Given the description of an element on the screen output the (x, y) to click on. 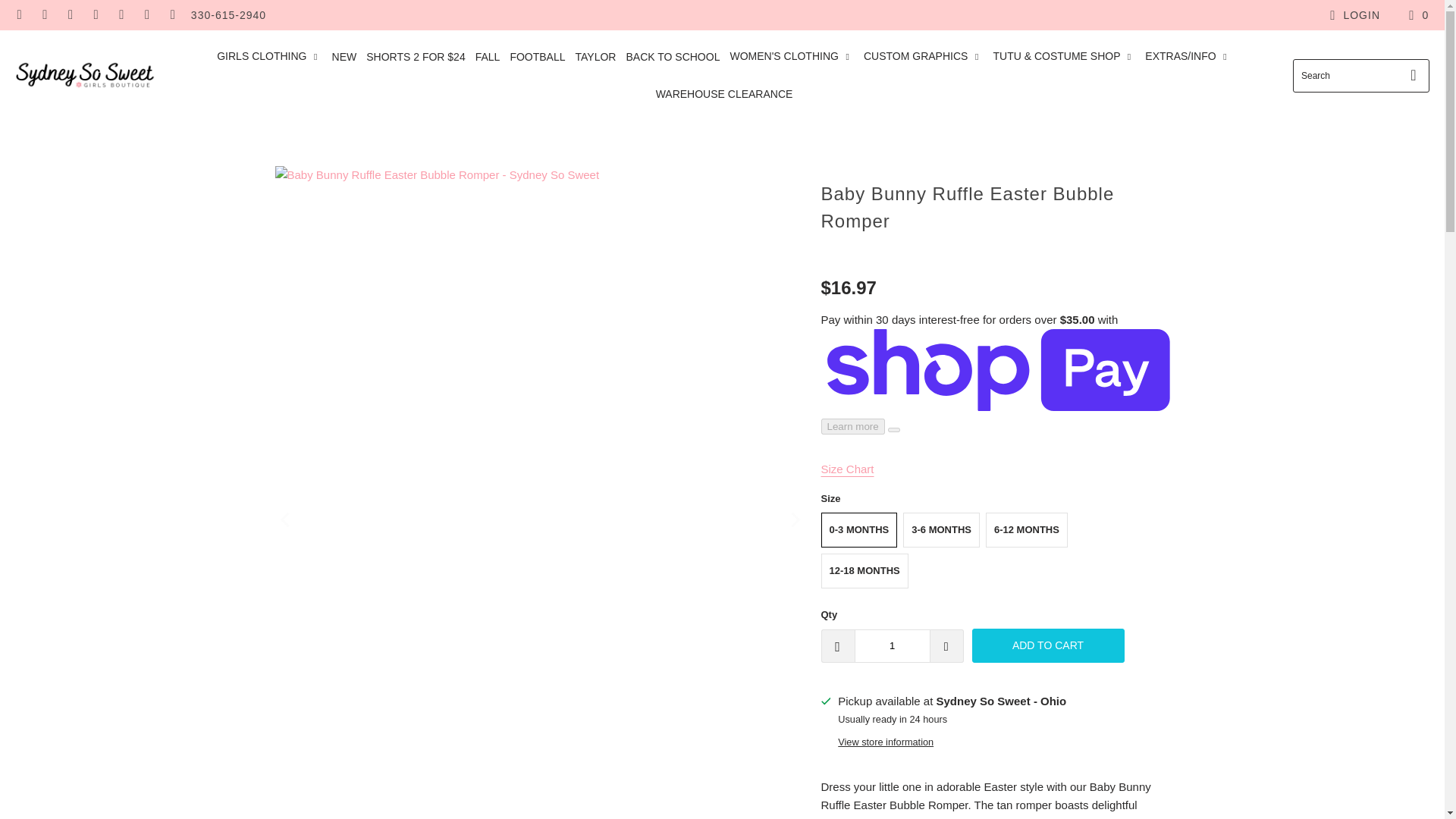
Sydney So Sweet on Pinterest (95, 15)
Sydney So Sweet on Facebook (44, 15)
Sydney So Sweet on Instagram (69, 15)
My Account  (1352, 14)
Sydney So Sweet (84, 75)
Sydney So Sweet on TikTok (121, 15)
Email Sydney So Sweet (18, 15)
1 (891, 645)
Sydney So Sweet on YouTube (171, 15)
Sydney So Sweet on Twitter (146, 15)
